Given the description of an element on the screen output the (x, y) to click on. 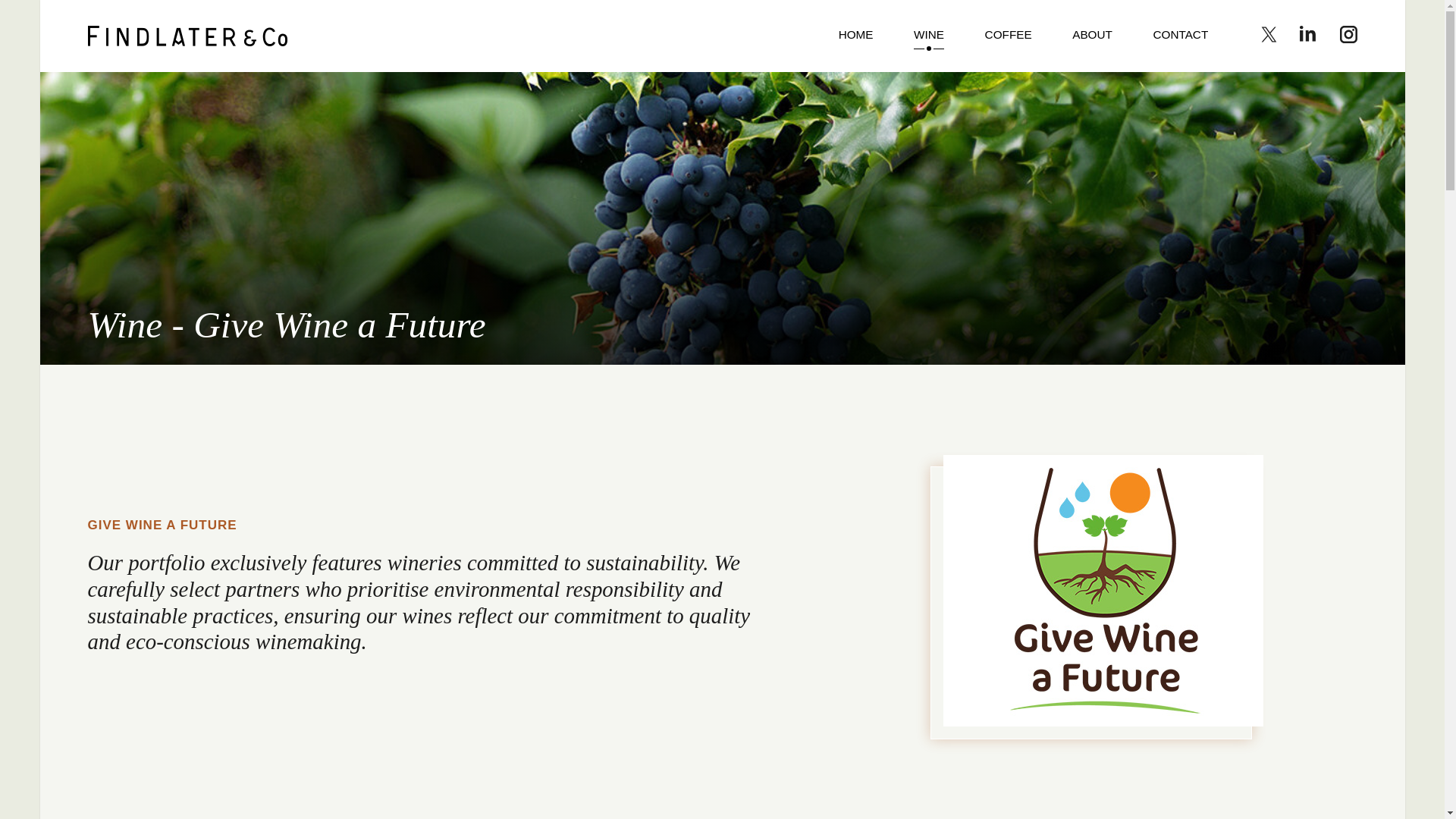
ABOUT (1091, 35)
CONTACT (1180, 35)
WINE (928, 35)
HOME (855, 35)
COFFEE (1008, 35)
Give Wine a Future (186, 35)
